Given the description of an element on the screen output the (x, y) to click on. 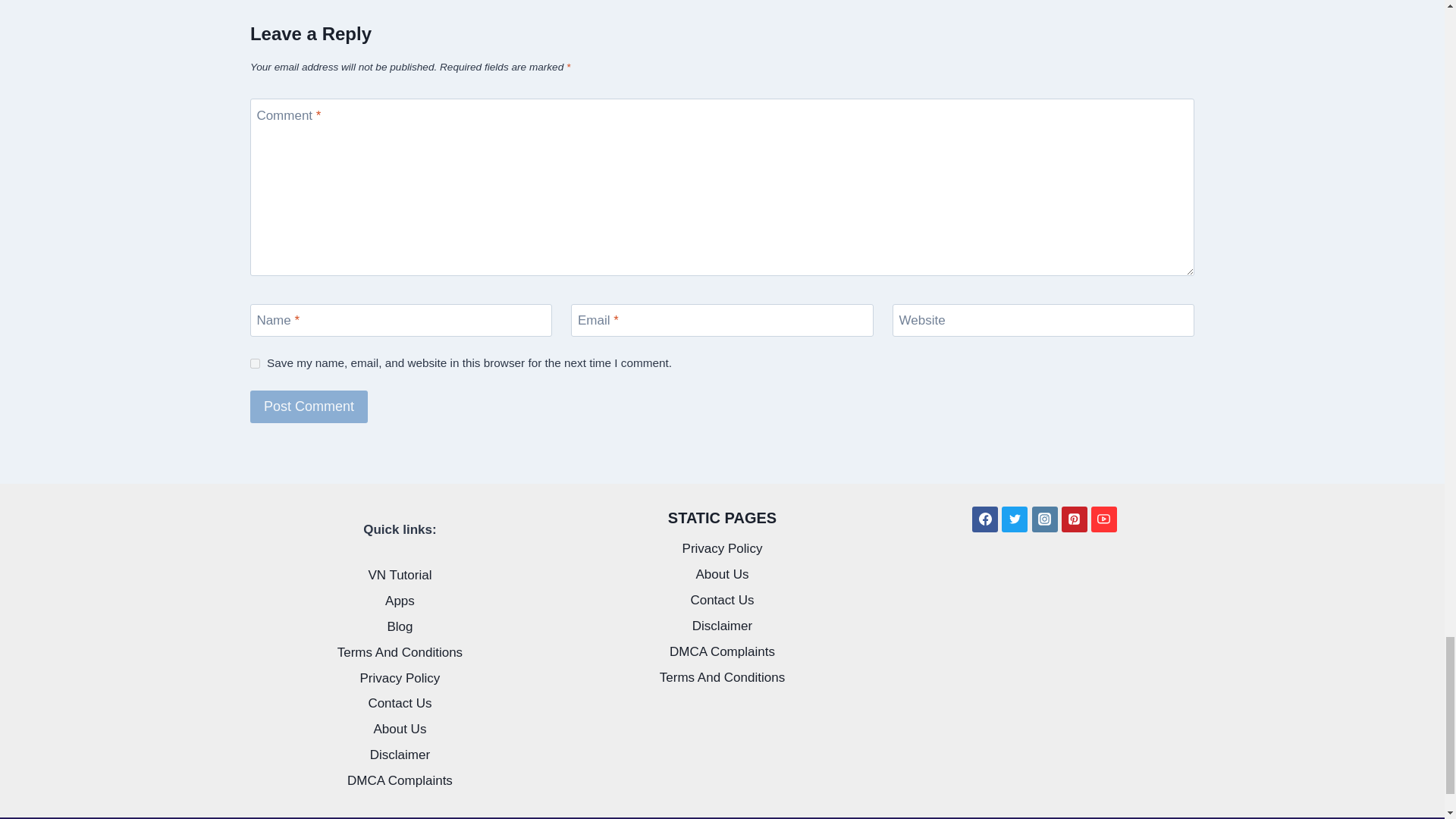
yes (255, 363)
Post Comment (309, 406)
